Given the description of an element on the screen output the (x, y) to click on. 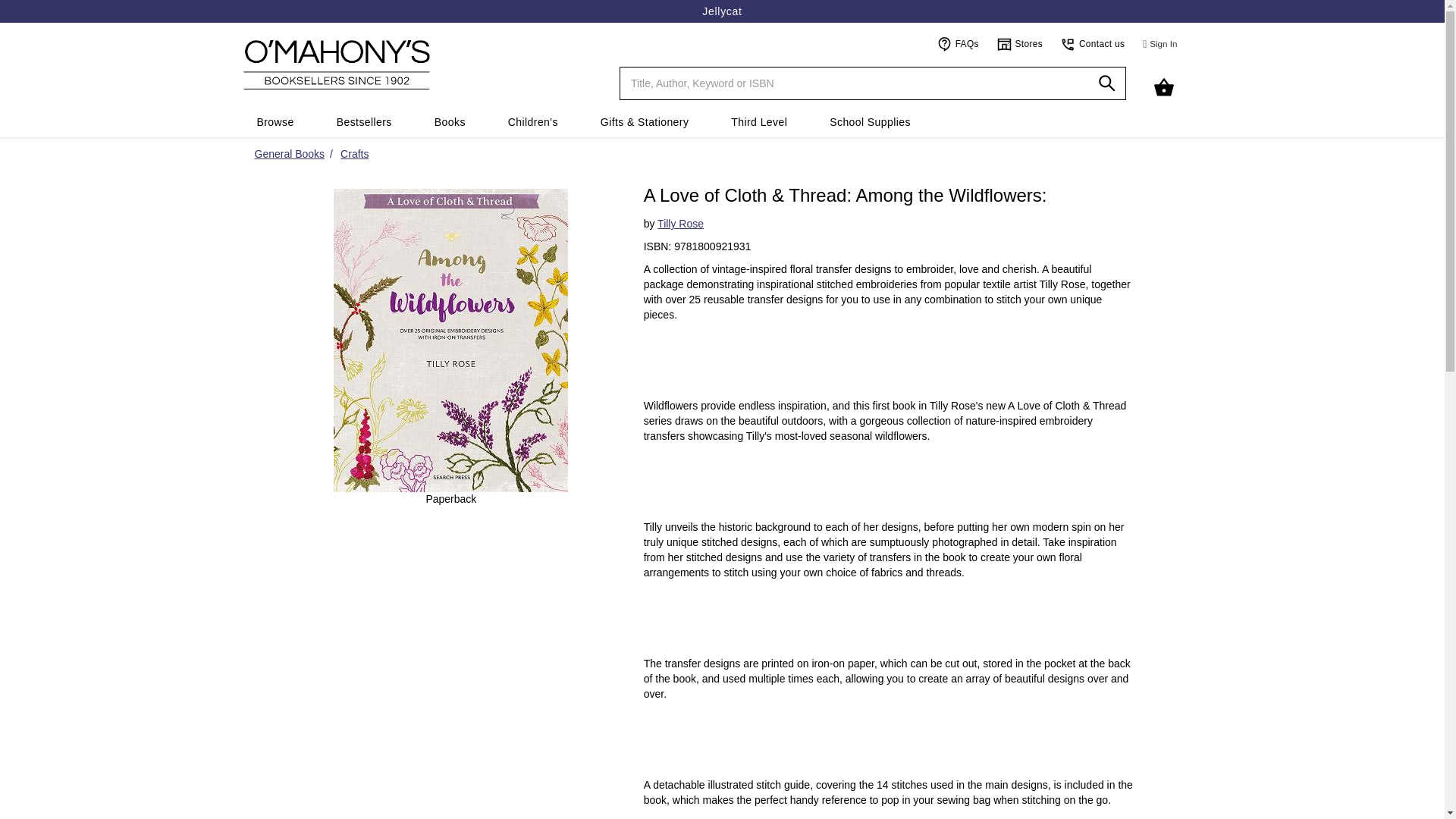
Browse (275, 122)
Minimal - go to homepage (415, 64)
Stores (1020, 43)
FAQs (957, 43)
Contact us (1092, 43)
Sign In (1160, 43)
